Given the description of an element on the screen output the (x, y) to click on. 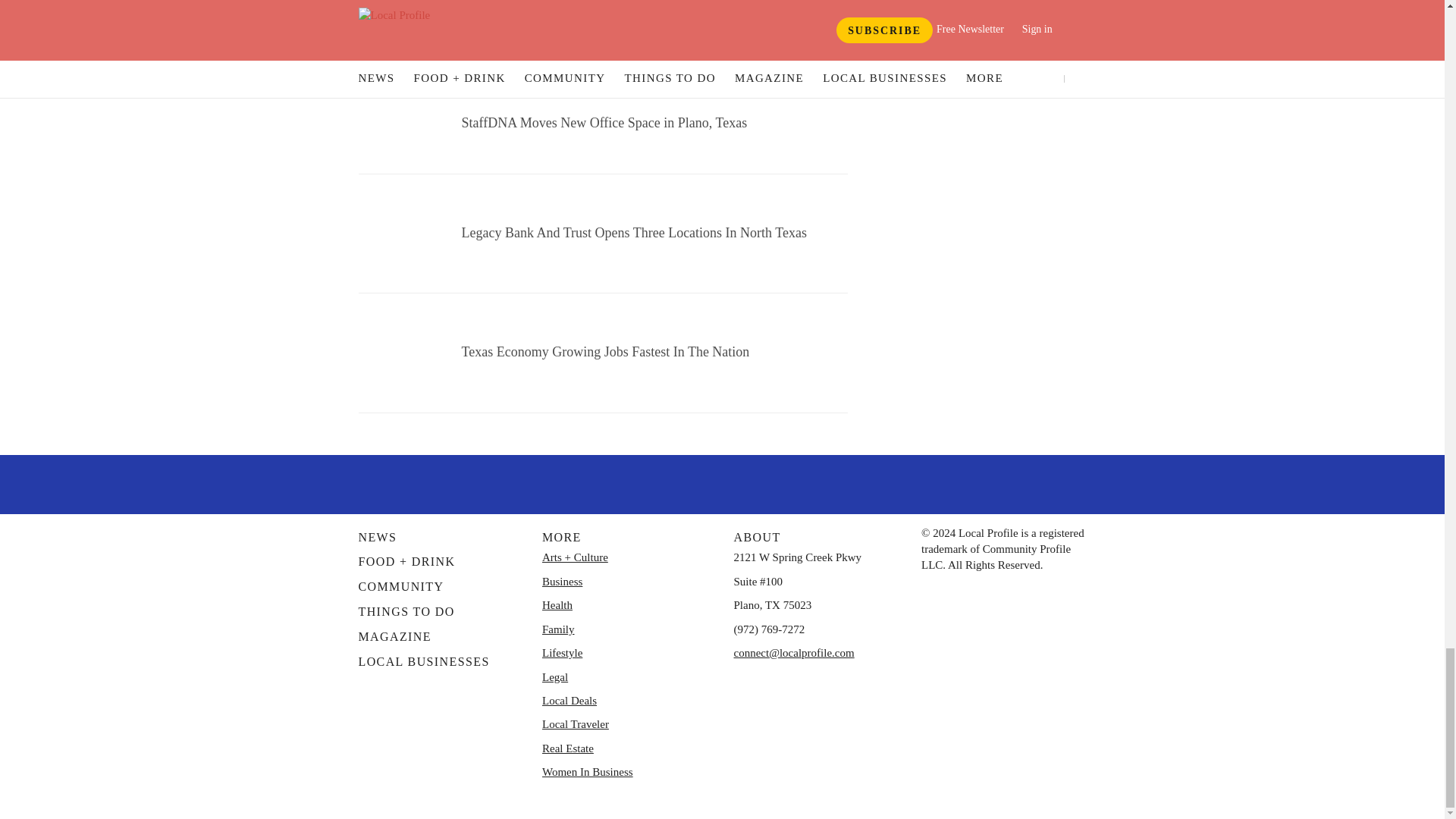
Facebook (644, 482)
LinkedIn (800, 482)
Instagram (721, 482)
X (683, 482)
YouTube (760, 482)
